Given the description of an element on the screen output the (x, y) to click on. 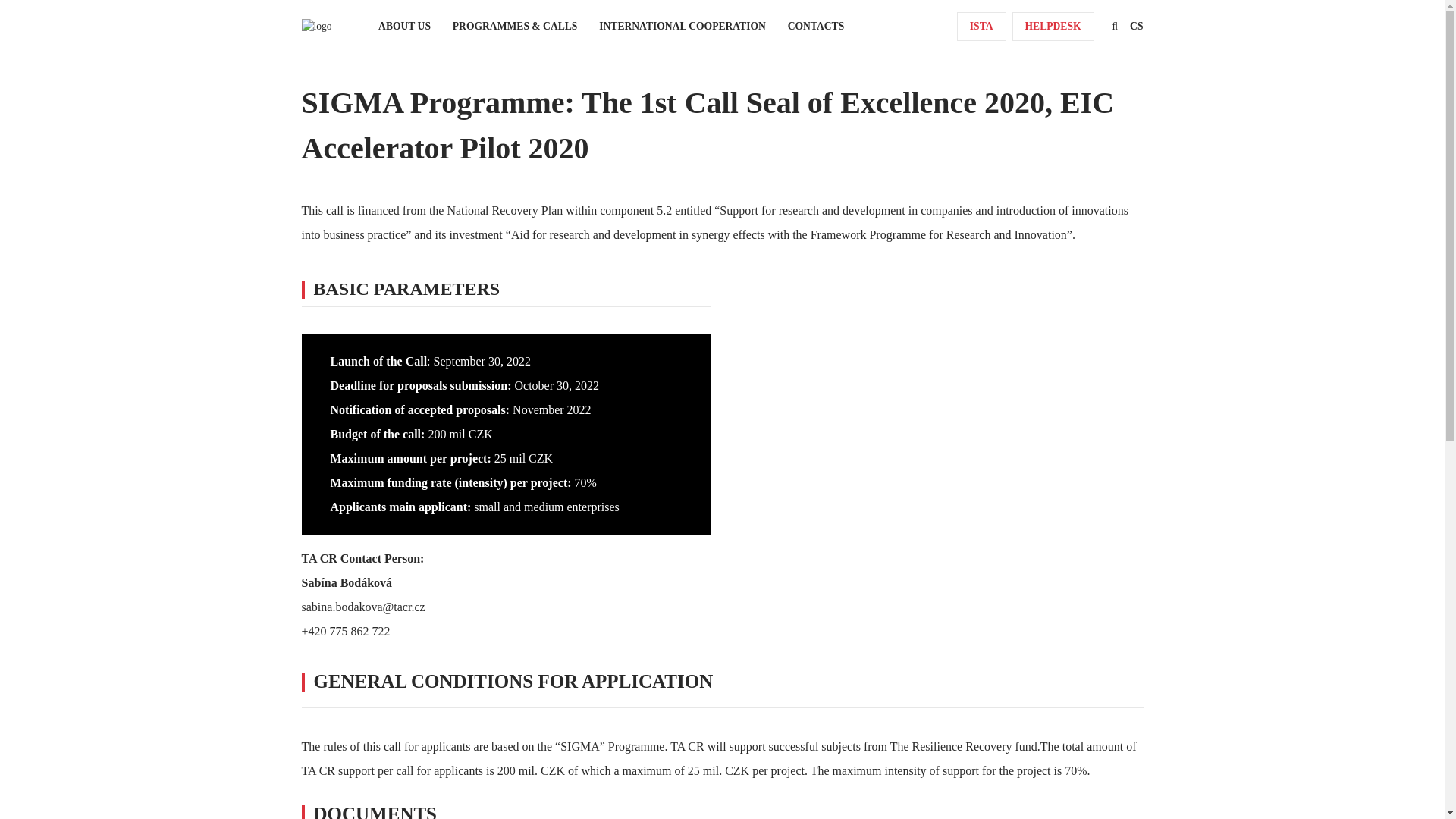
CONTACTS (815, 26)
ISTA (981, 26)
HELPDESK (1052, 26)
INTERNATIONAL COOPERATION (681, 26)
ABOUT US (404, 26)
